Given the description of an element on the screen output the (x, y) to click on. 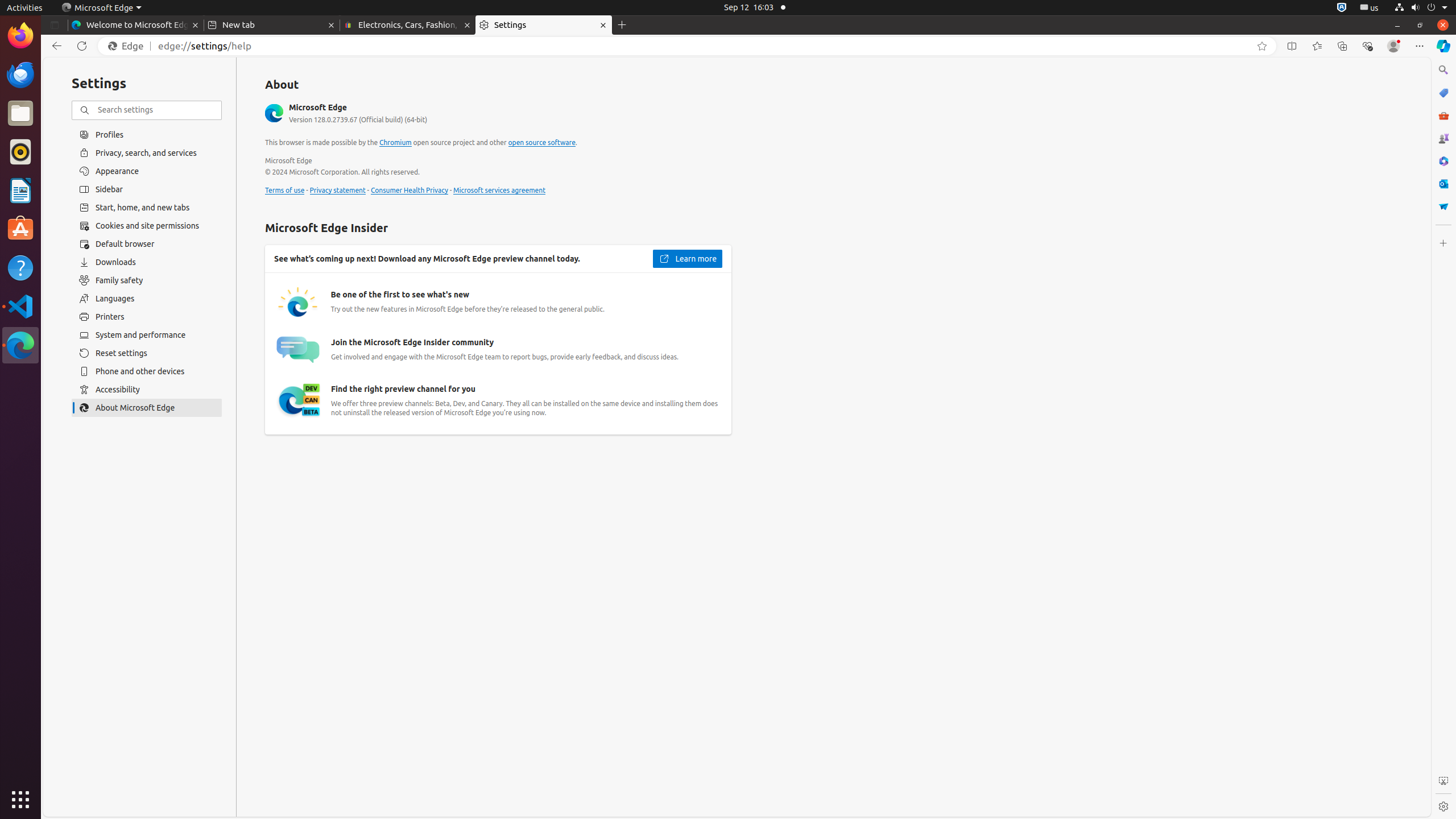
Rhythmbox Element type: push-button (20, 151)
Search Element type: push-button (1443, 69)
Collections Element type: push-button (1341, 45)
Family safety Element type: tree-item (146, 280)
:1.21/StatusNotifierItem Element type: menu (1369, 7)
